Given the description of an element on the screen output the (x, y) to click on. 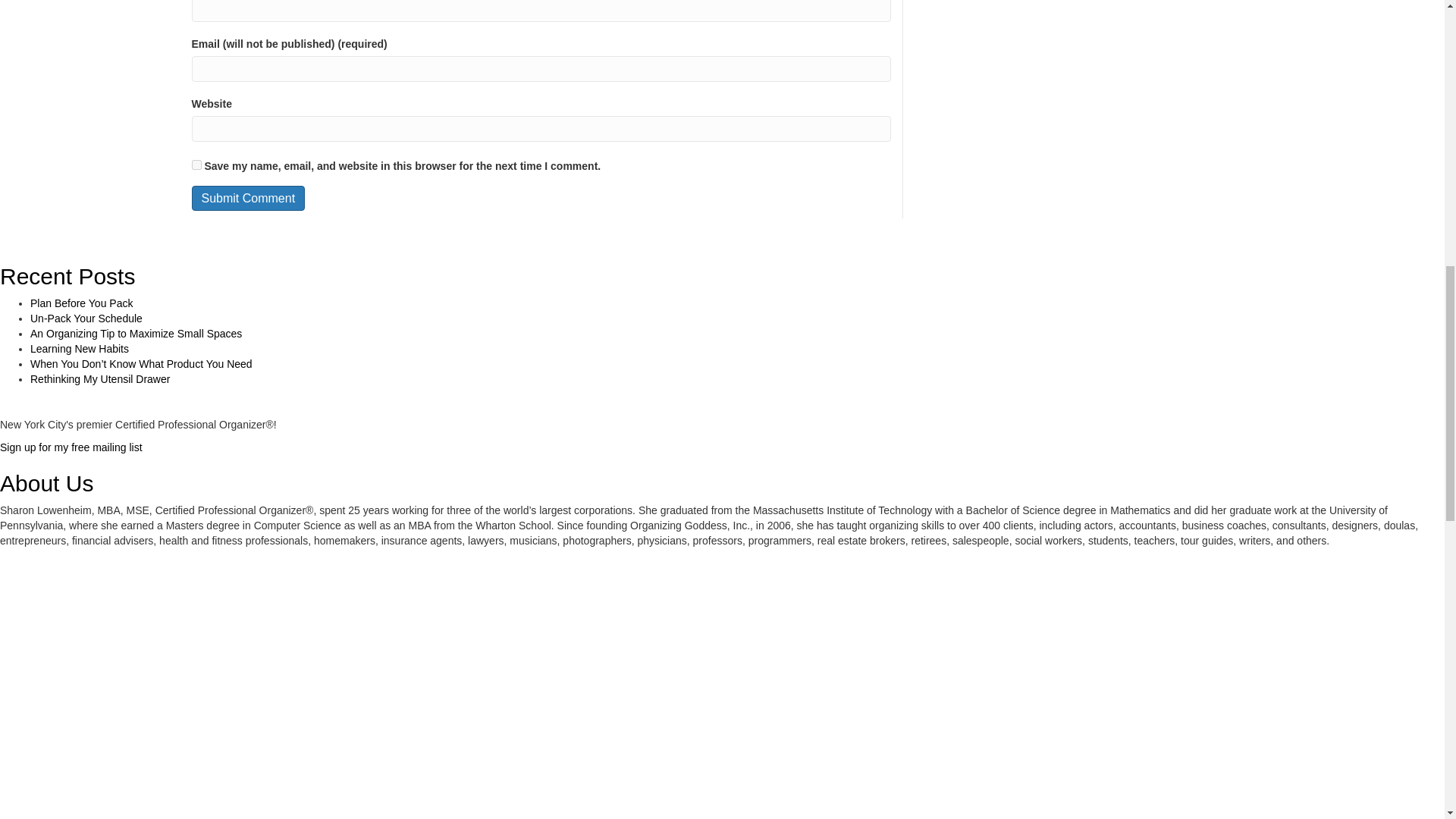
NAPO-member- white block (113, 613)
Plan Before You Pack (81, 303)
Un-Pack Your Schedule (86, 318)
Submit Comment (247, 197)
An Organizing Tip to Maximize Small Spaces (135, 333)
Submit Comment (247, 197)
yes (195, 164)
Learning New Habits (79, 348)
